Given the description of an element on the screen output the (x, y) to click on. 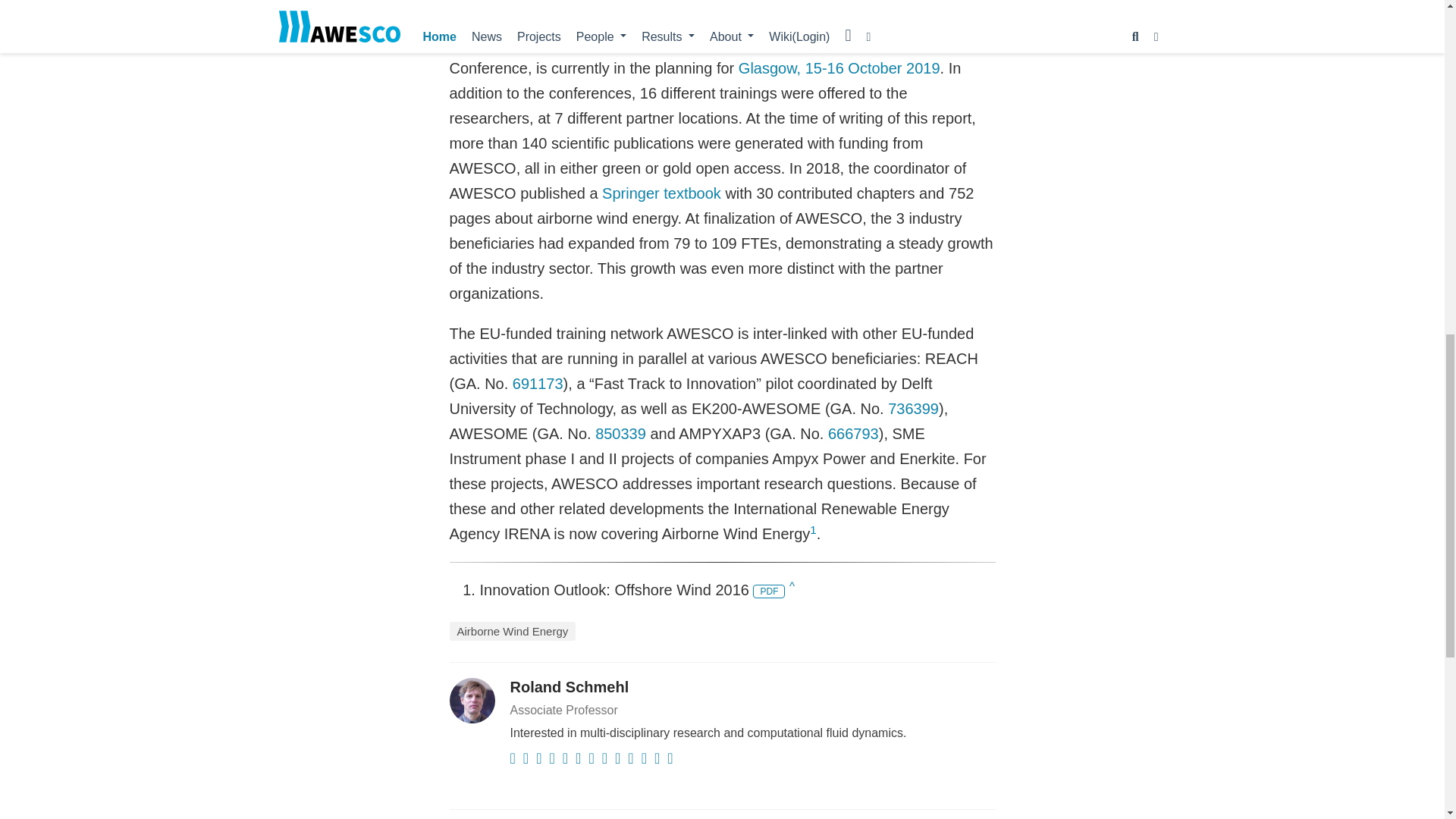
Glasgow, 15-16 October 2019 (839, 67)
